Given the description of an element on the screen output the (x, y) to click on. 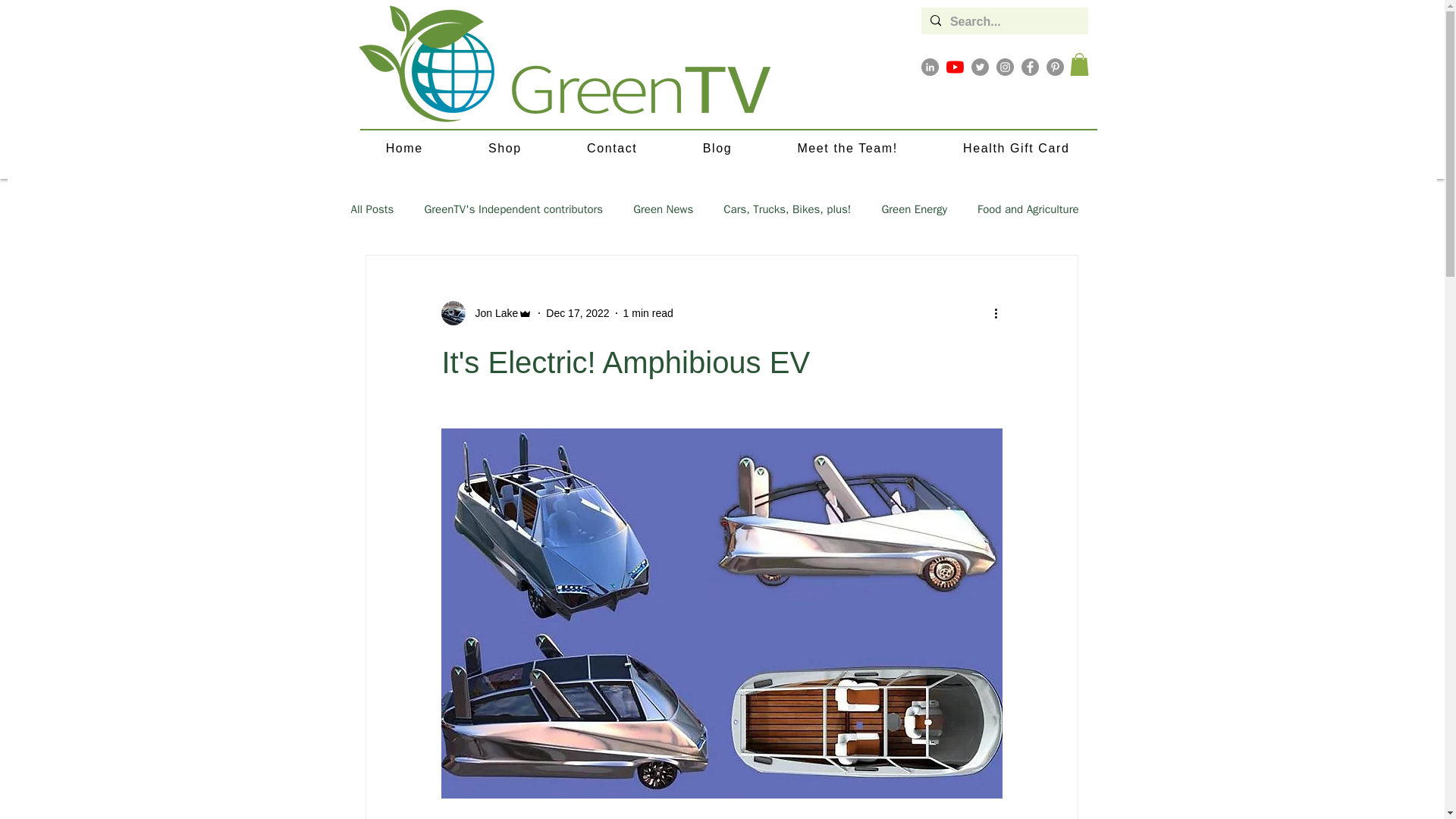
Green Energy (727, 149)
Cars, Trucks, Bikes, plus! (913, 208)
Shop (786, 208)
Blog (504, 149)
Jon Lake (716, 149)
Meet the Team! (491, 312)
All Posts (847, 149)
Contact (371, 208)
Food and Agriculture (611, 149)
GreenTV's Independent contributors (1027, 208)
Dec 17, 2022 (512, 208)
Green News (577, 312)
1 min read (663, 208)
Home (647, 312)
